Given the description of an element on the screen output the (x, y) to click on. 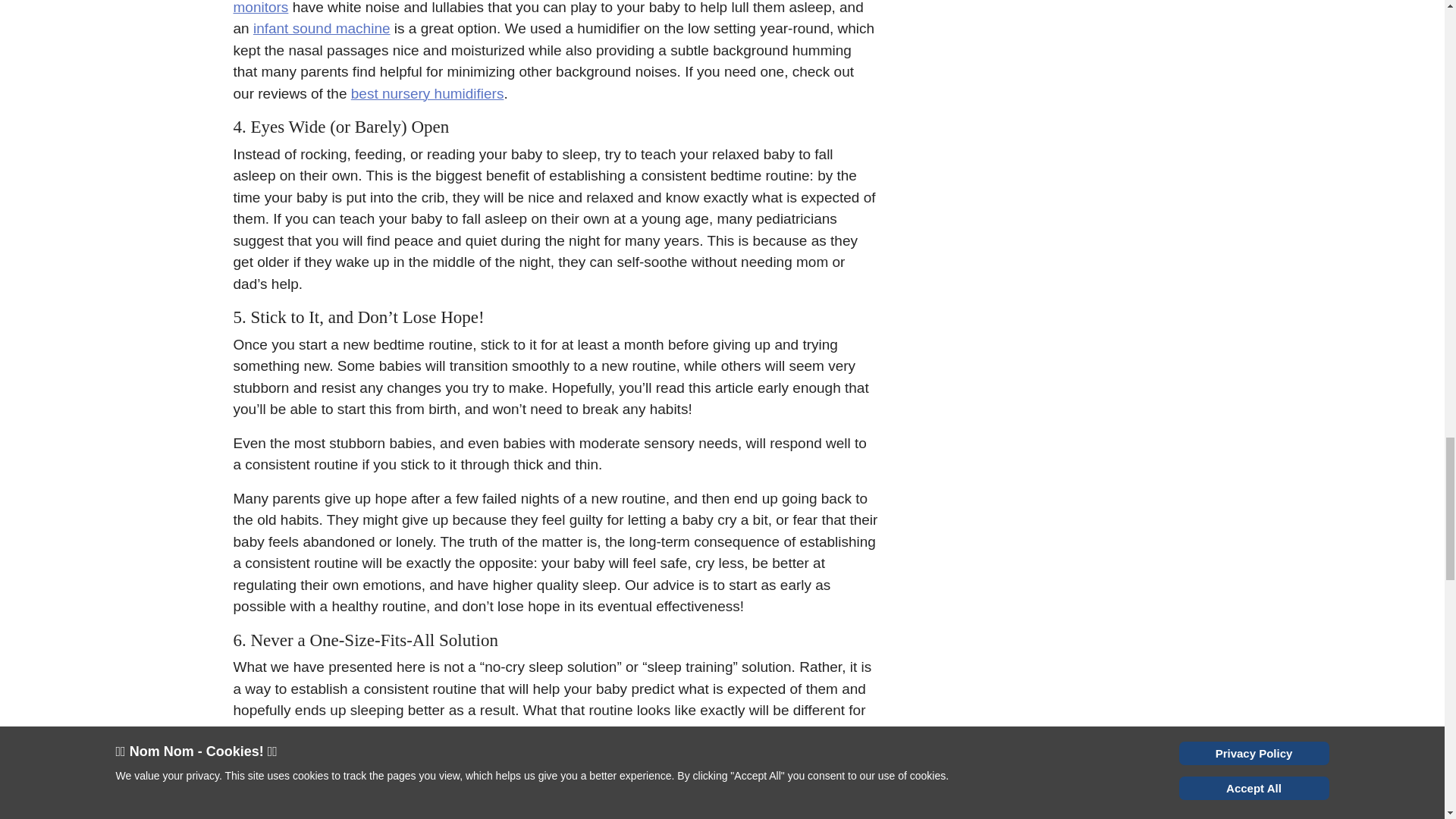
infant sound machine (321, 28)
best baby monitors (518, 7)
best nursery humidifiers (426, 93)
